Given the description of an element on the screen output the (x, y) to click on. 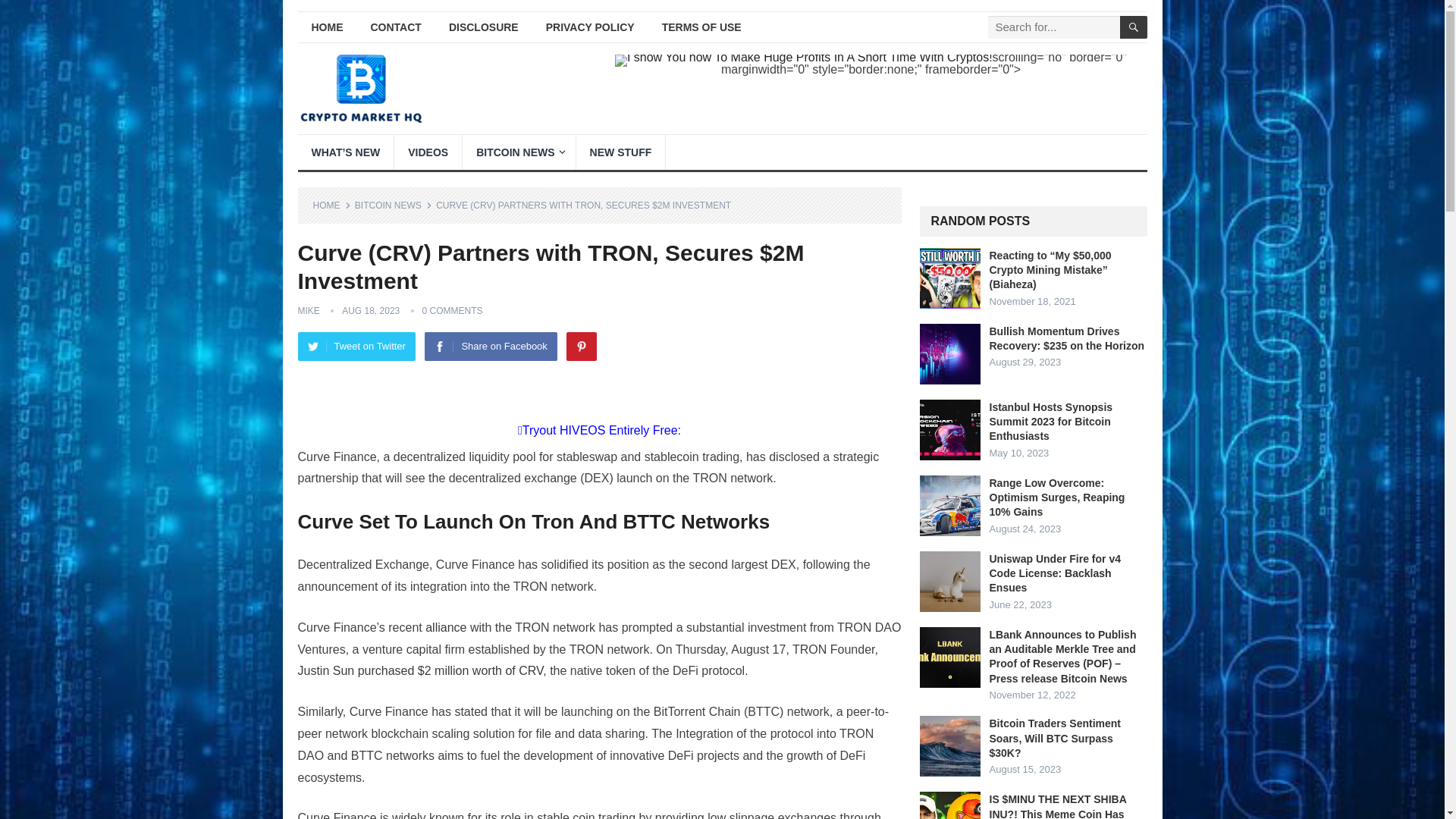
BITCOIN NEWS (393, 204)
Tweet on Twitter (355, 346)
BITCOIN NEWS (519, 152)
HOME (331, 204)
Pinterest (581, 346)
HOME (326, 27)
View all posts in Bitcoin News (393, 204)
VIDEOS (427, 152)
0 COMMENTS (452, 310)
